Given the description of an element on the screen output the (x, y) to click on. 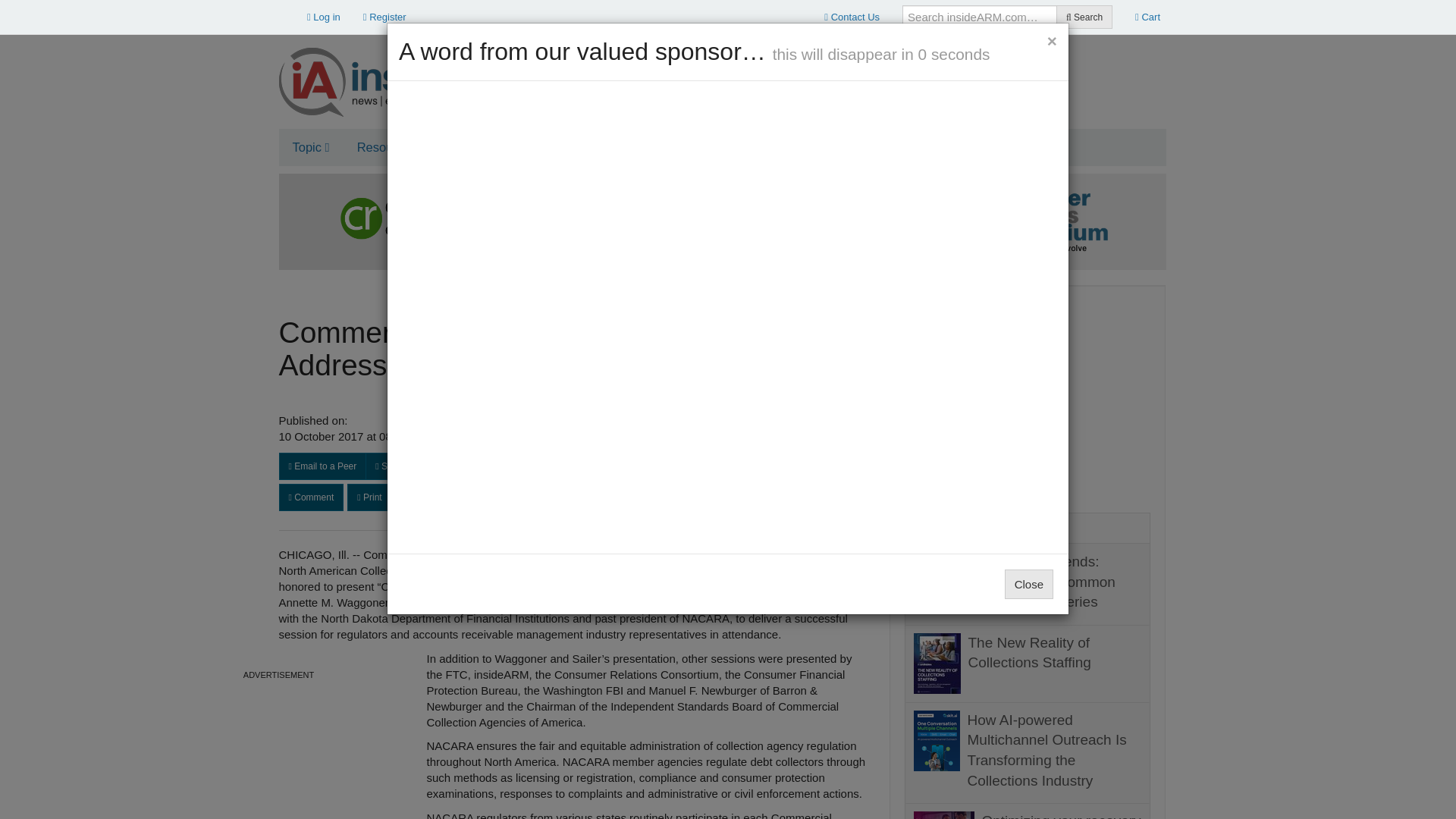
Search (1084, 16)
Cart (1148, 17)
Resources (390, 147)
Topic (311, 147)
Log in (323, 17)
Contact Us (851, 17)
3rd party ad content (889, 75)
3rd party ad content (279, 751)
3rd party ad content (1027, 394)
Advertise (481, 147)
Register (384, 17)
